Given the description of an element on the screen output the (x, y) to click on. 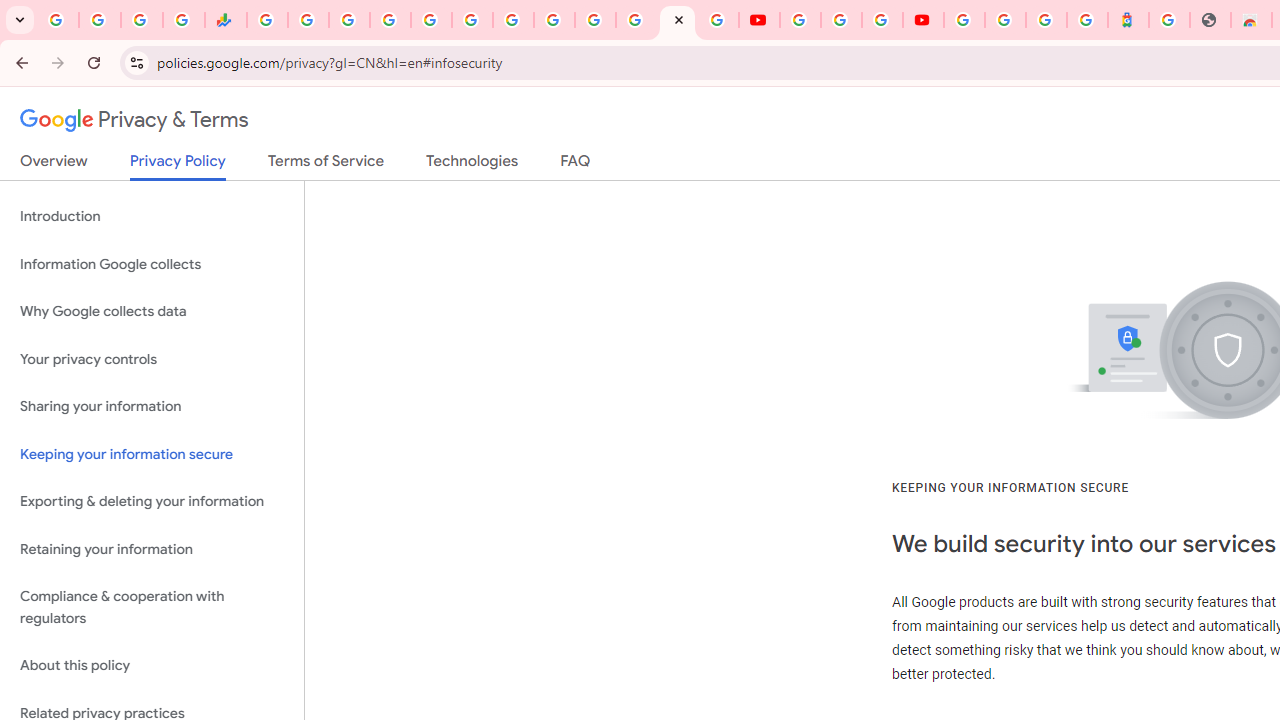
Android TV Policies and Guidelines - Transparency Center (512, 20)
Google Account Help (840, 20)
YouTube (553, 20)
Atour Hotel - Google hotels (1128, 20)
Sign in - Google Accounts (964, 20)
